Given the description of an element on the screen output the (x, y) to click on. 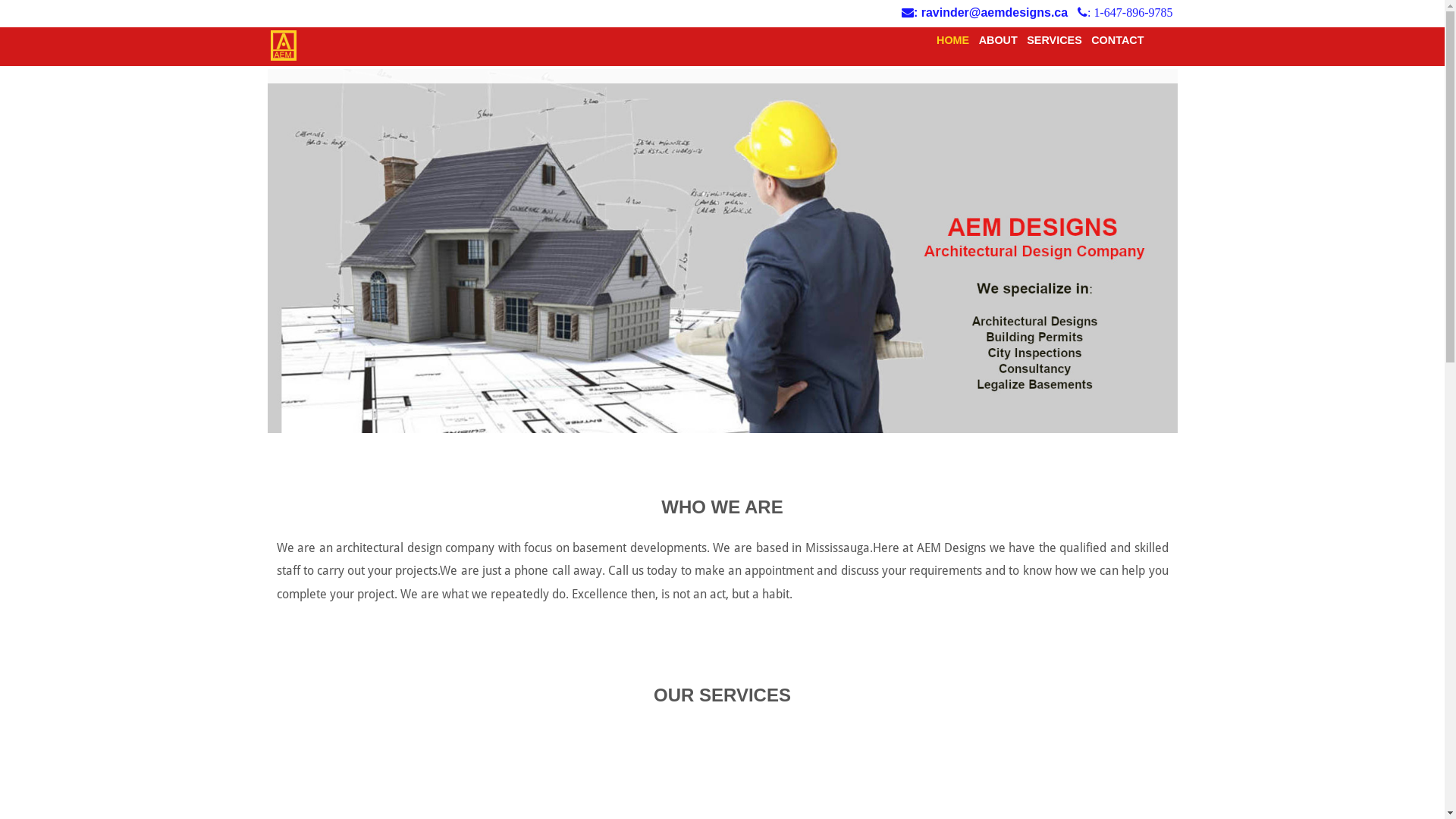
ABOUT Element type: text (998, 40)
HOME Element type: text (952, 40)
: ravinder@aemdesigns.ca   Element type: text (987, 12)
SERVICES Element type: text (1054, 40)
CONTACT Element type: text (1117, 40)
